Given the description of an element on the screen output the (x, y) to click on. 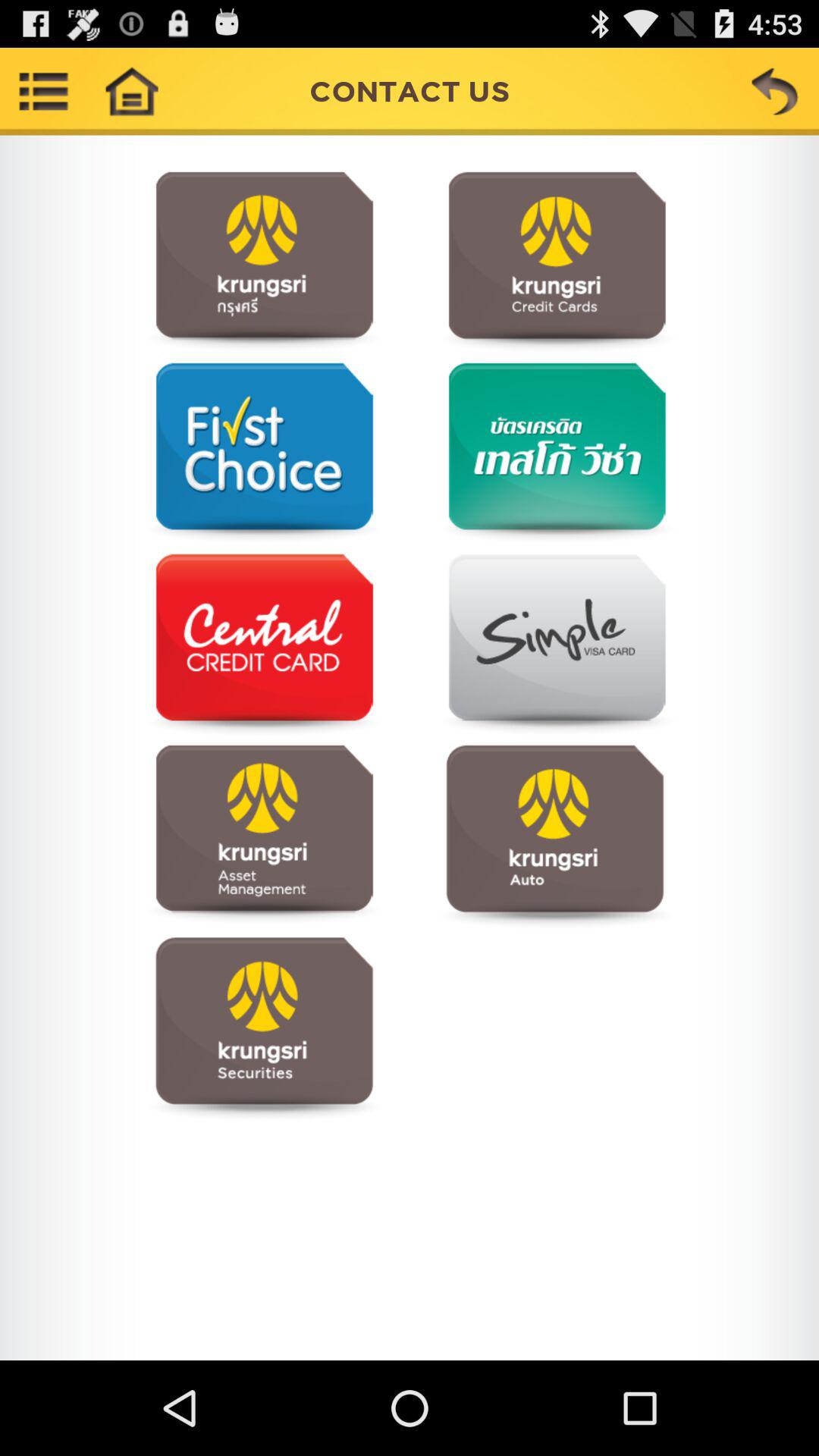
click out of this option (263, 644)
